Given the description of an element on the screen output the (x, y) to click on. 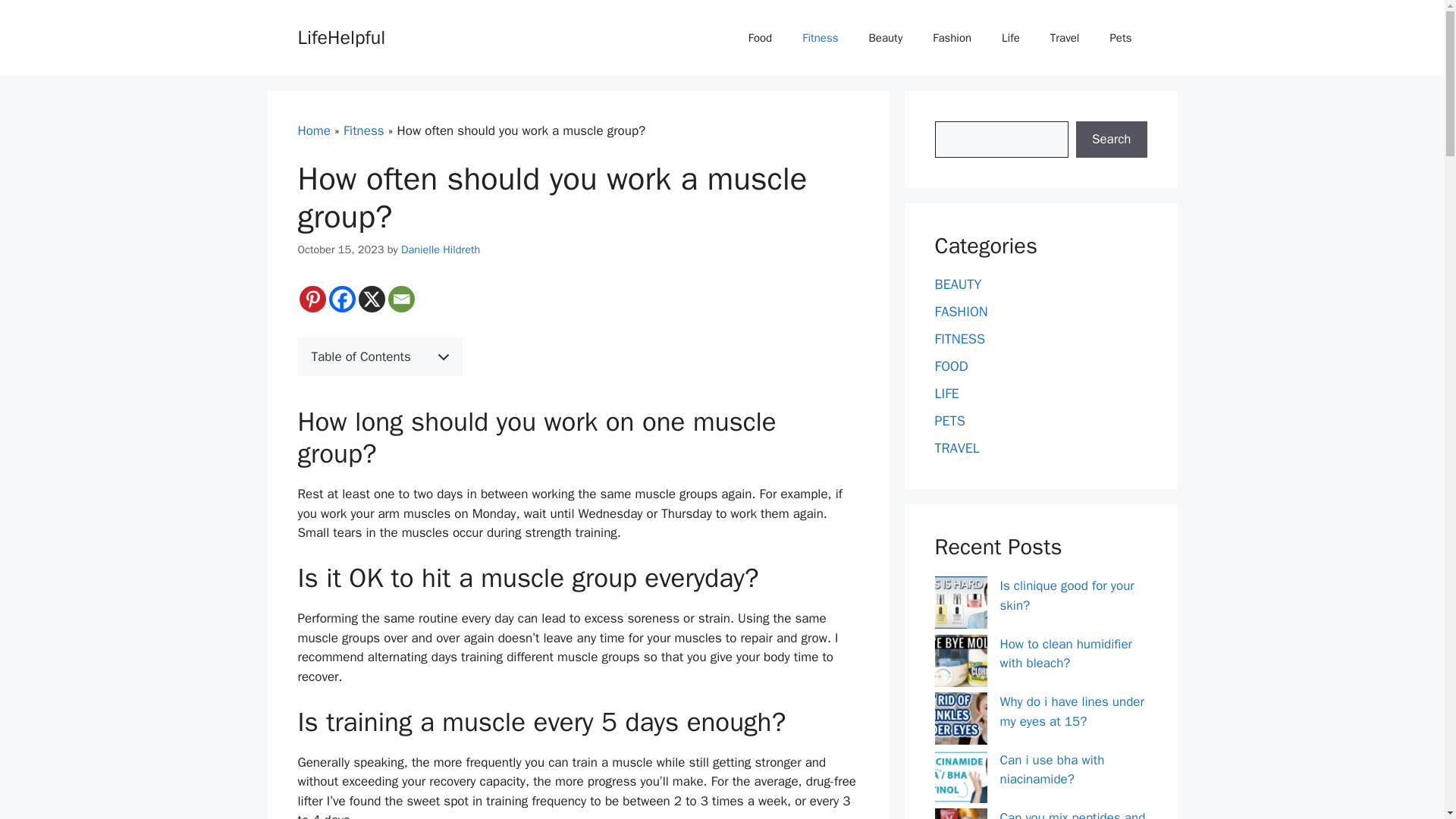
LifeHelpful (341, 37)
View all posts by Danielle Hildreth (440, 249)
X (371, 298)
Home (313, 130)
Life (1011, 37)
Fitness (363, 130)
Fitness (820, 37)
Email (401, 298)
Pinterest (311, 298)
Pets (1120, 37)
Fashion (952, 37)
Beauty (885, 37)
Facebook (342, 298)
Travel (1064, 37)
Danielle Hildreth (440, 249)
